Given the description of an element on the screen output the (x, y) to click on. 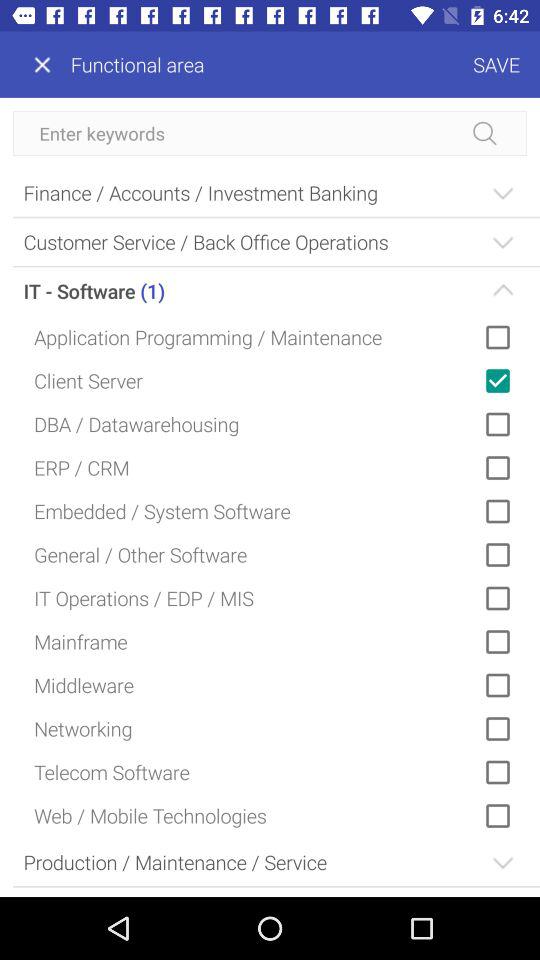
turn on icon below the save icon (269, 133)
